Given the description of an element on the screen output the (x, y) to click on. 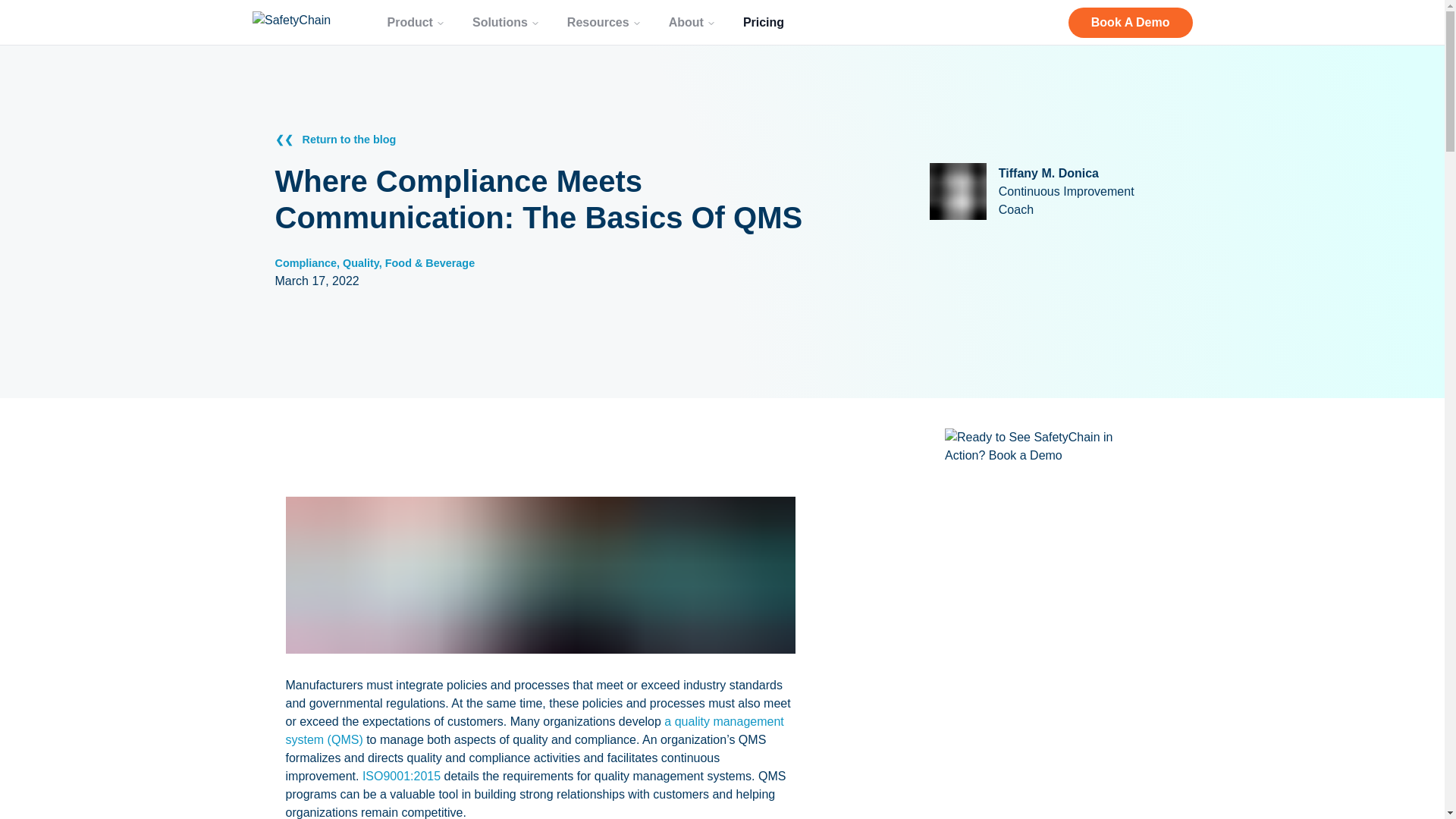
ISO9001:2015 (401, 775)
Resources (603, 21)
Book A Demo (1130, 22)
, Quality (357, 263)
Product (415, 21)
Pricing (763, 21)
Solutions (505, 21)
Compliance (305, 263)
About (692, 21)
